Given the description of an element on the screen output the (x, y) to click on. 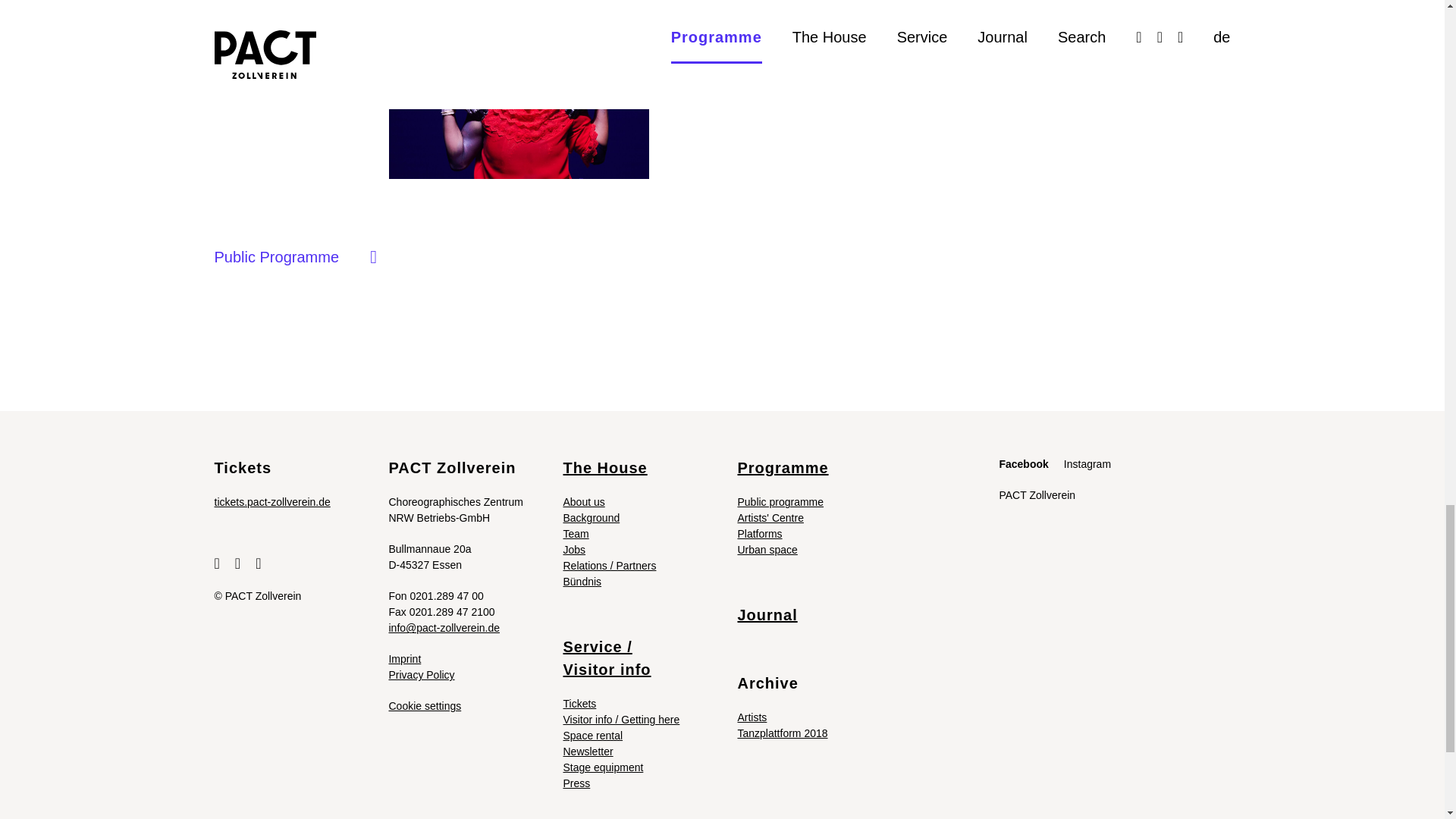
Privacy Policy (421, 674)
Imprint (404, 658)
Background (591, 517)
Das Haus (604, 467)
Press (575, 783)
Team (575, 533)
Space rental (592, 735)
Programme (780, 501)
Stage equipment (602, 767)
Newsletter (587, 751)
